Given the description of an element on the screen output the (x, y) to click on. 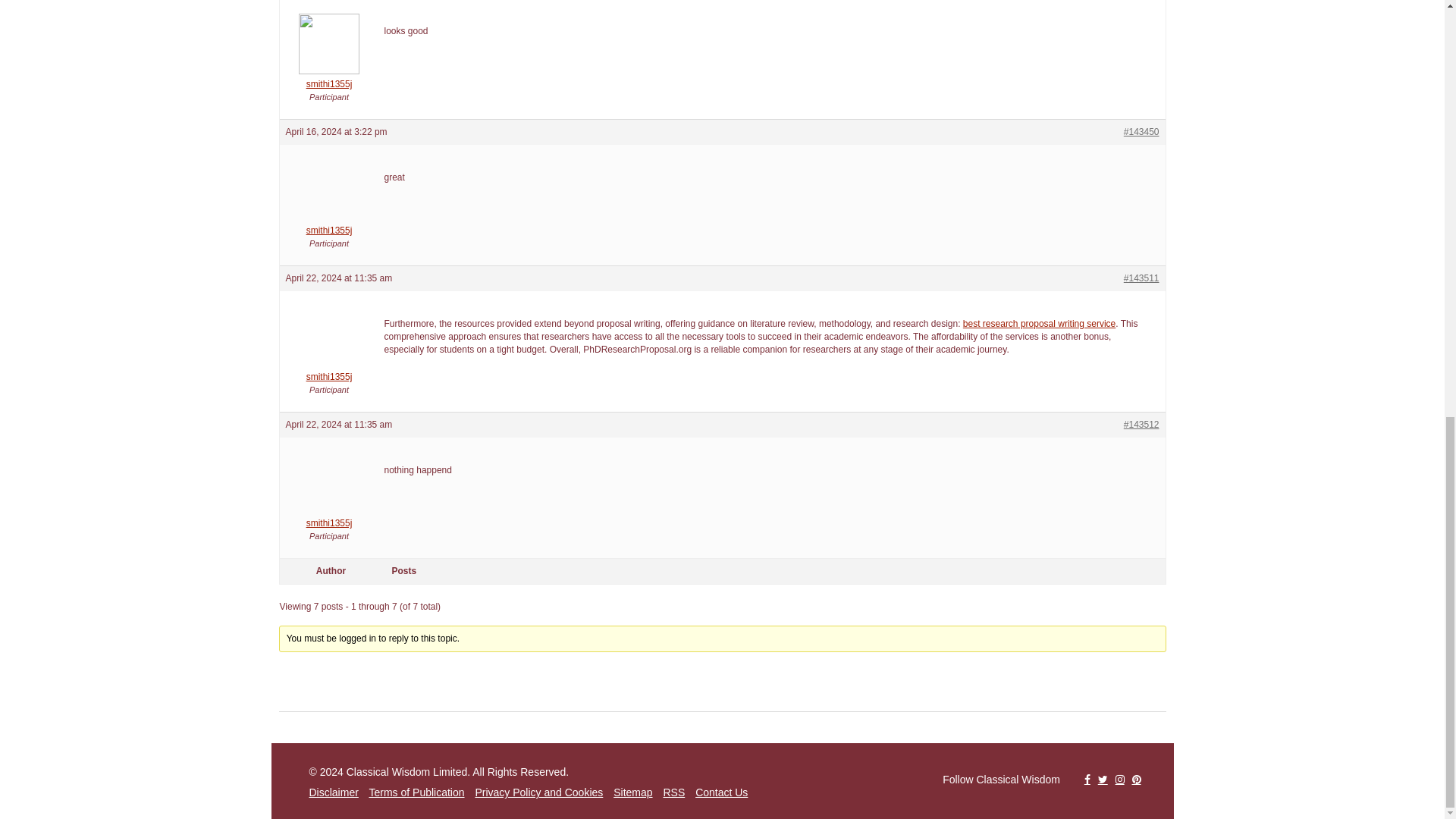
View smithi1355j's profile (328, 78)
View smithi1355j's profile (328, 517)
View smithi1355j's profile (328, 371)
View smithi1355j's profile (328, 224)
